Given the description of an element on the screen output the (x, y) to click on. 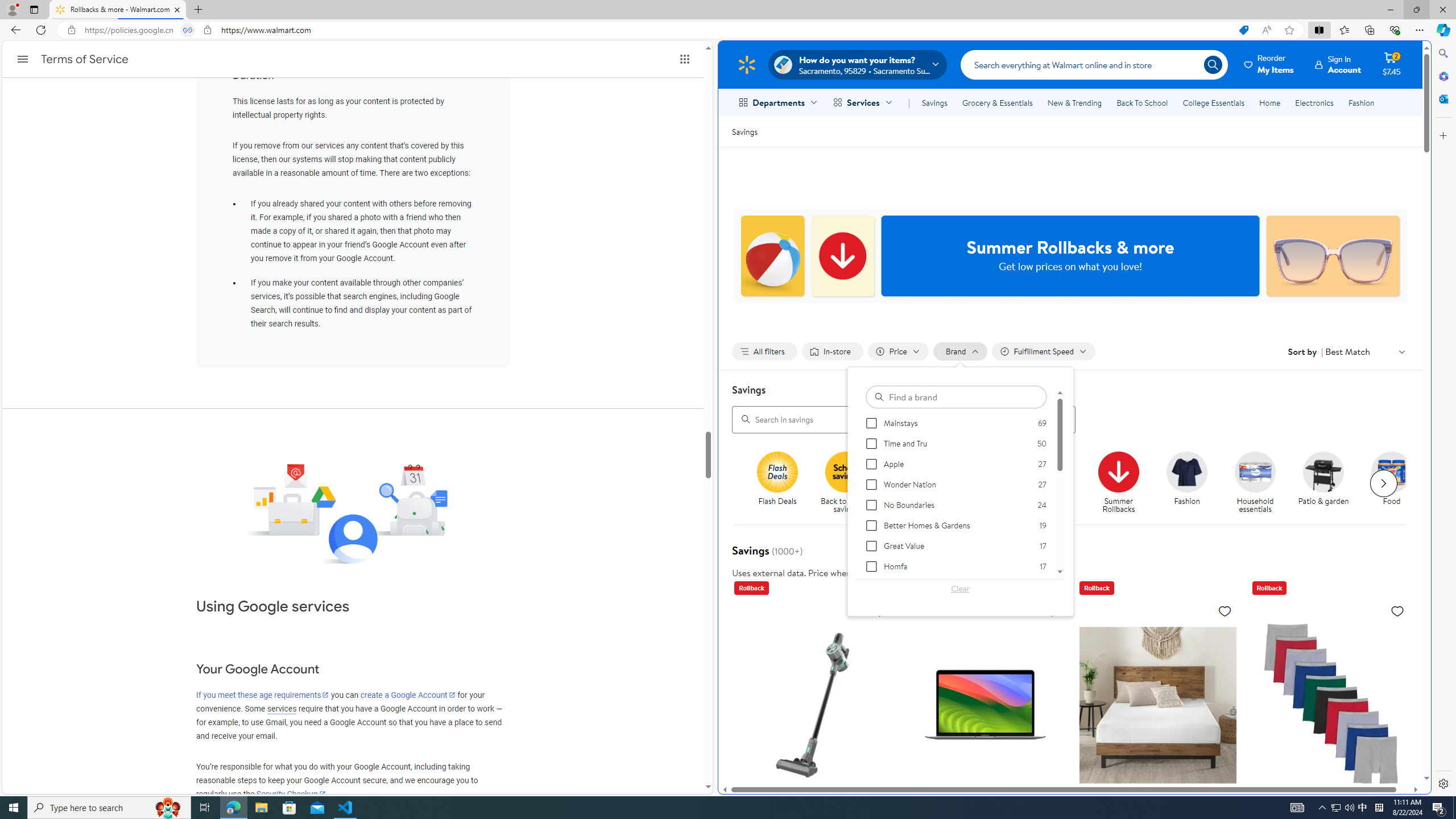
Electronics (1314, 102)
Back to school savings (849, 483)
New & Trending (1075, 102)
Sign InAccount (1338, 64)
Back to School savings (845, 471)
College Essentials (1213, 102)
Walmart Homepage (746, 64)
Search icon (1212, 64)
Savings (933, 102)
